Given the description of an element on the screen output the (x, y) to click on. 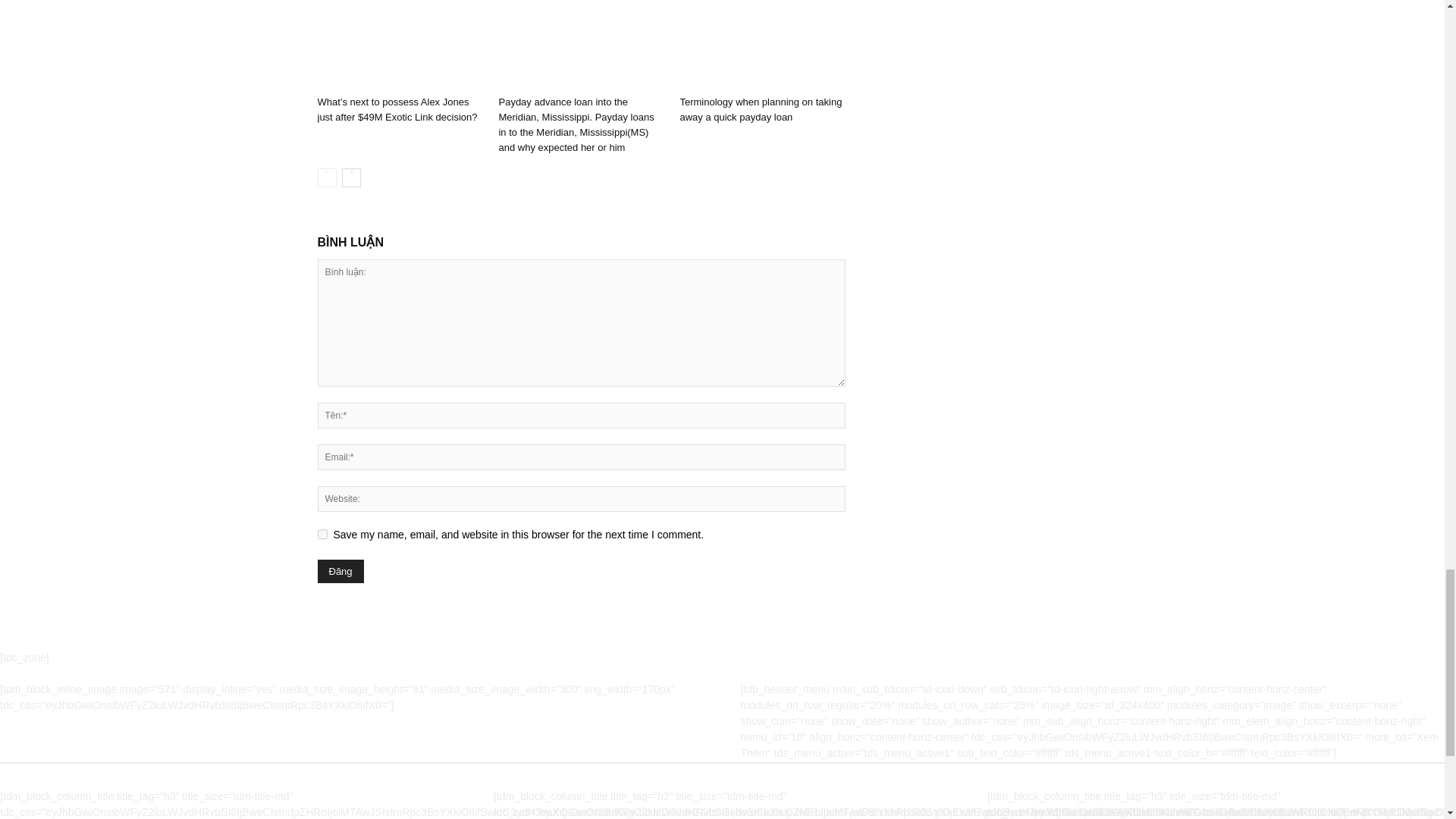
Terminology when planning on taking away a quick payday loan (760, 109)
Terminology when planning on taking away a quick payday loan (760, 109)
yes (321, 533)
Terminology when planning on taking away a quick payday loan (761, 44)
